Given the description of an element on the screen output the (x, y) to click on. 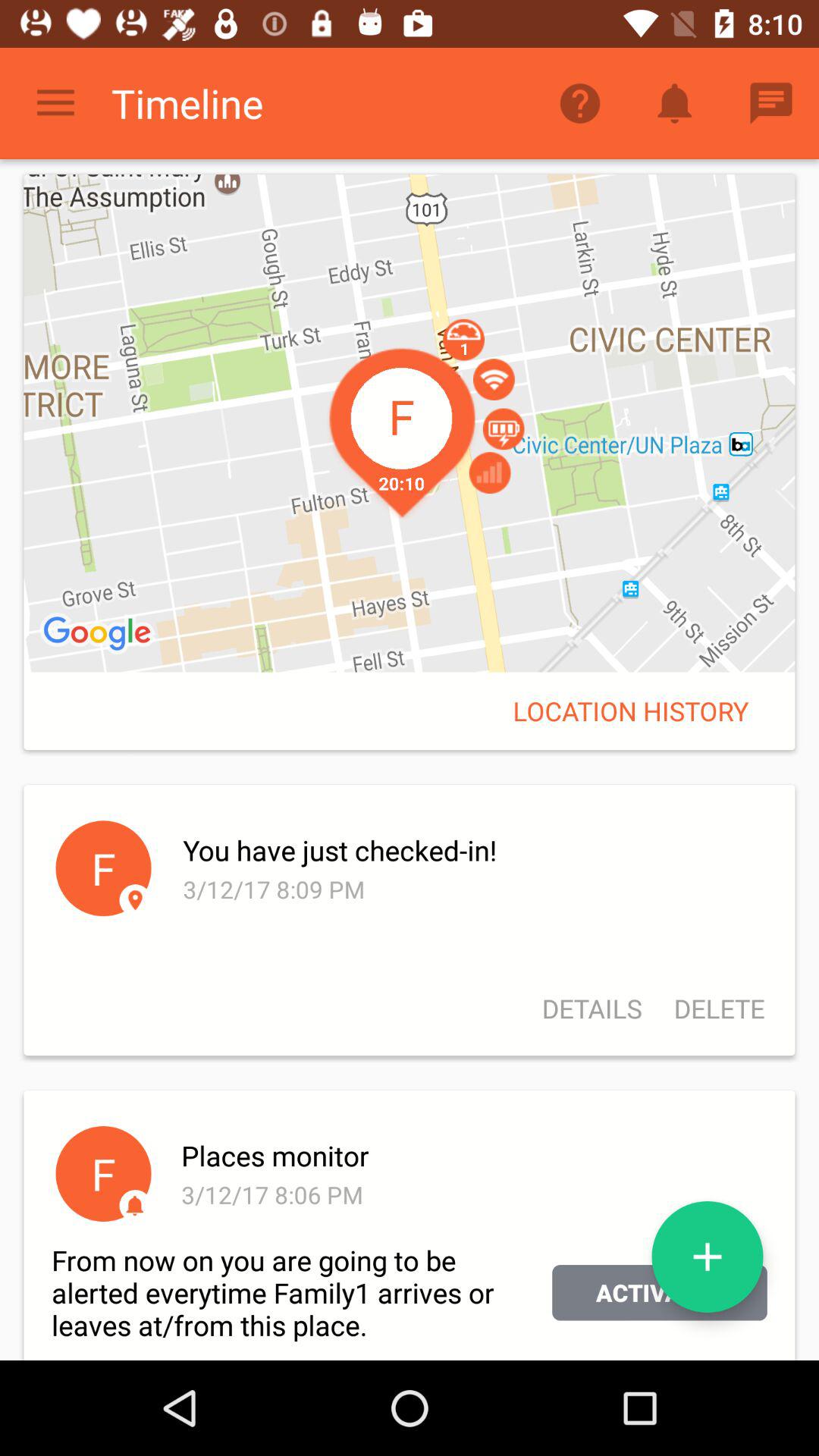
choose item next to details item (711, 1008)
